Given the description of an element on the screen output the (x, y) to click on. 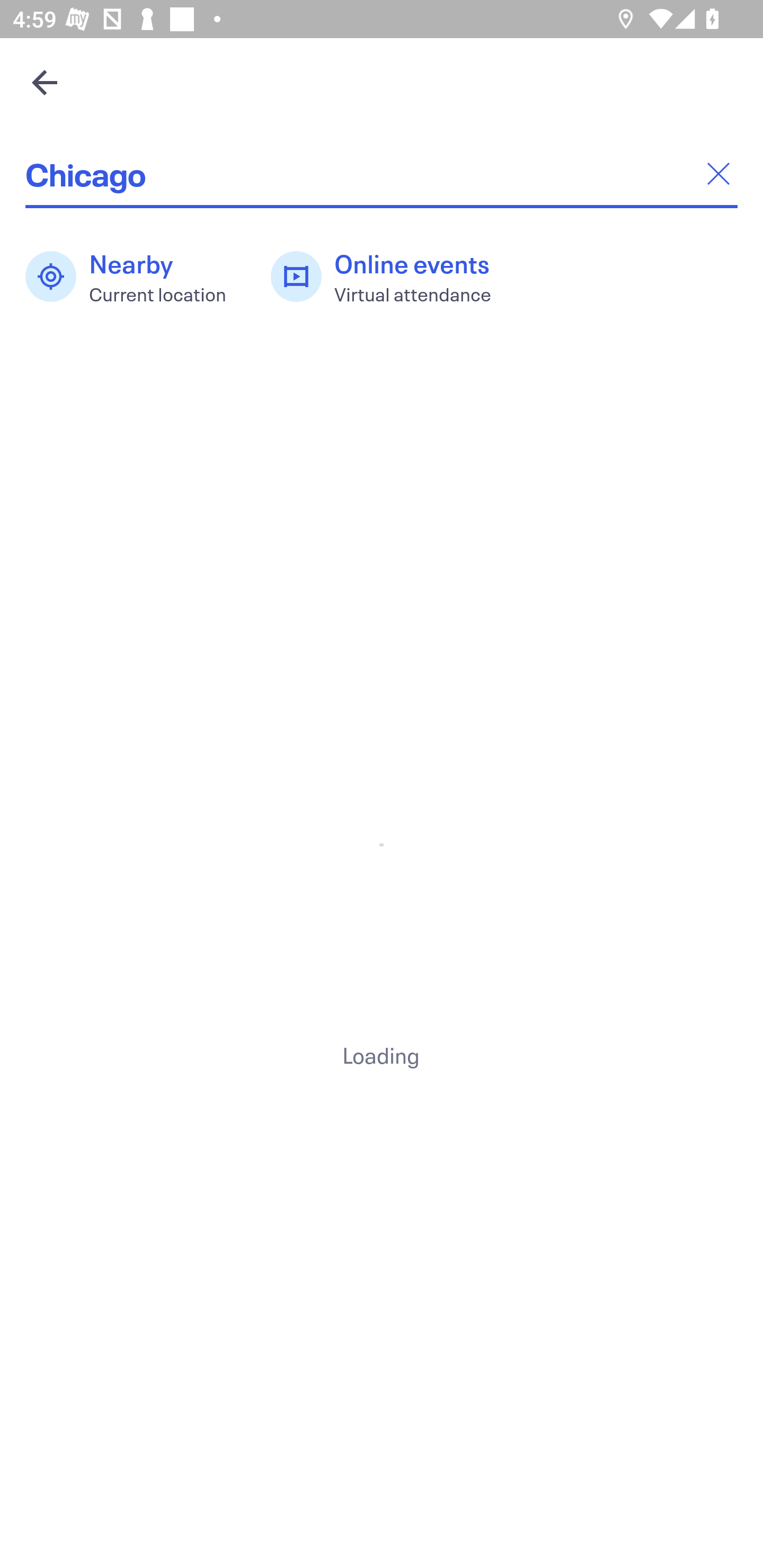
Navigate up (44, 82)
Chicago (381, 173)
Nearby Current location (135, 276)
Online events Virtual attendance (390, 276)
